Given the description of an element on the screen output the (x, y) to click on. 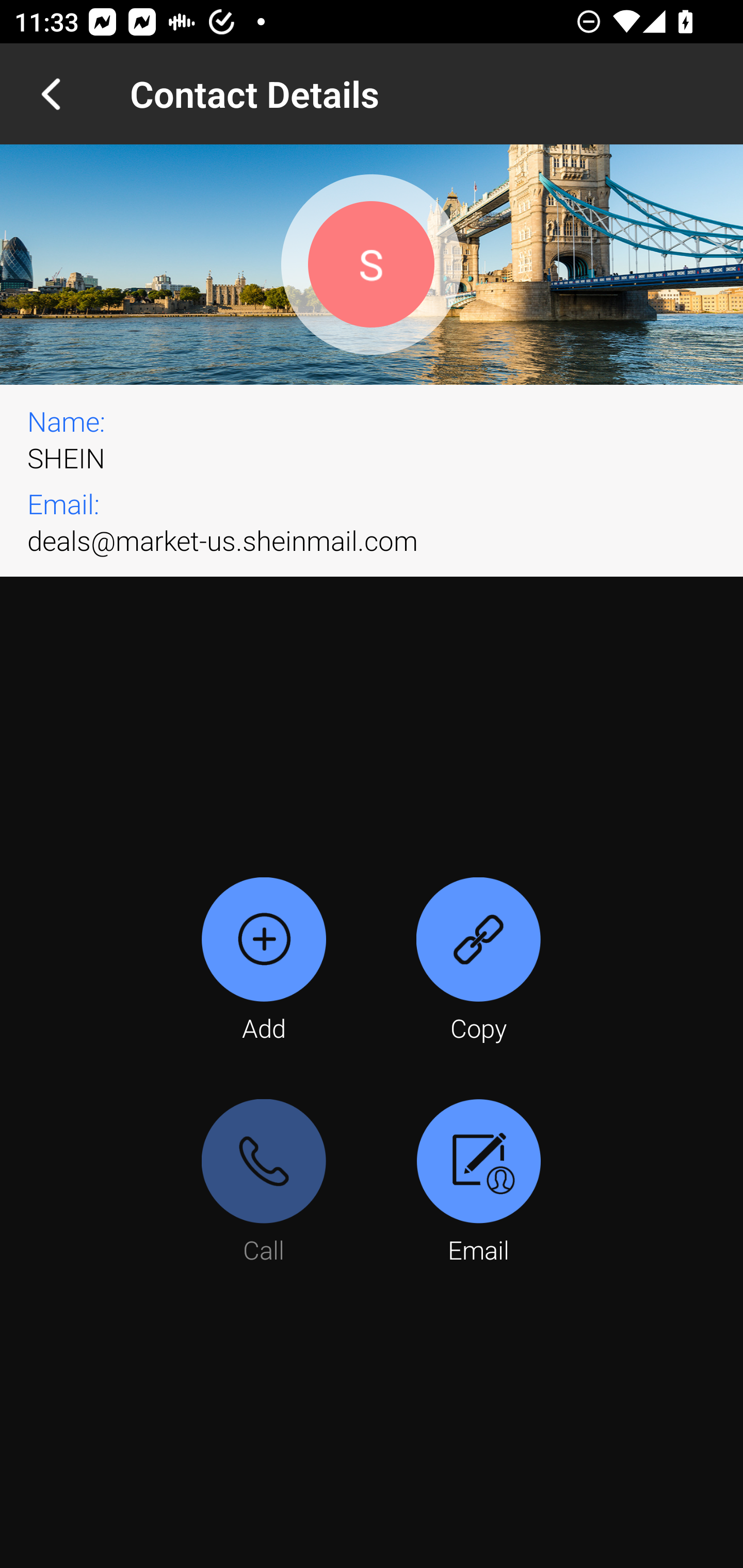
Navigate up (50, 93)
Add (264, 961)
Copy (478, 961)
Call (264, 1182)
Email (478, 1182)
